Given the description of an element on the screen output the (x, y) to click on. 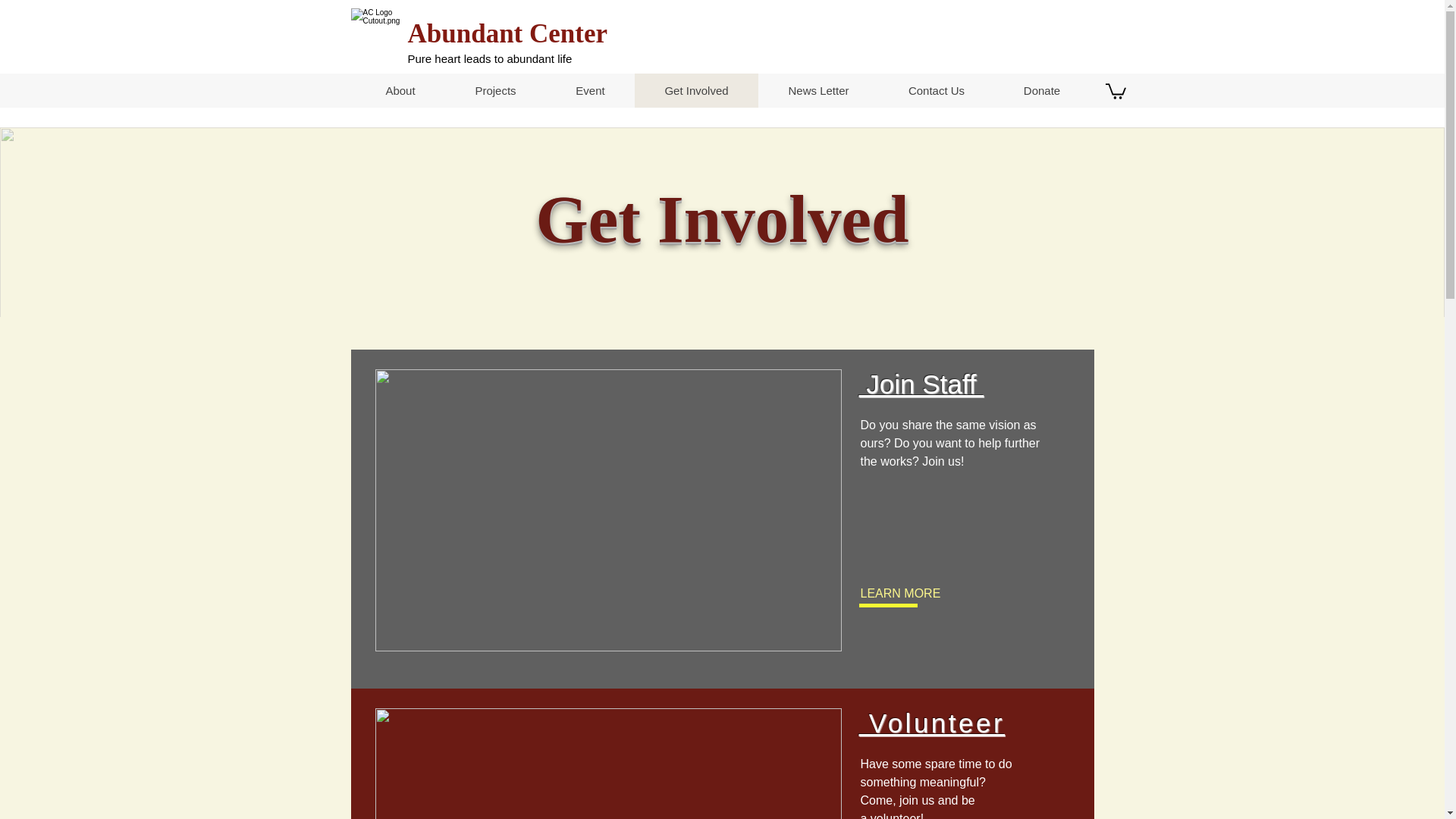
About (400, 90)
News Letter (818, 90)
LEARN MORE (909, 593)
Contact Us (934, 90)
Projects (494, 90)
Abundant Center (507, 33)
Get Involved (695, 90)
Donate (1040, 90)
Event (590, 90)
